Given the description of an element on the screen output the (x, y) to click on. 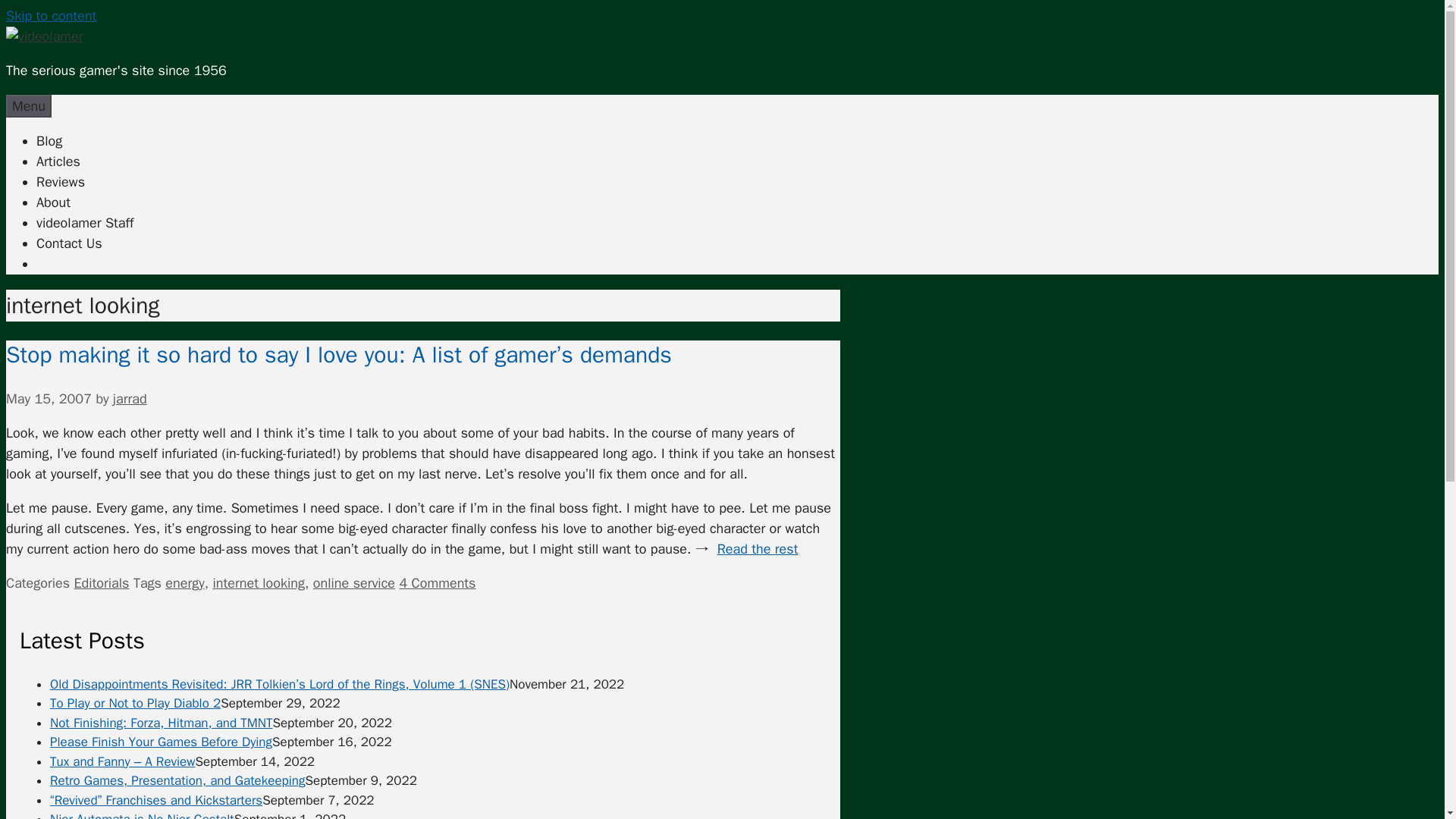
Blog (49, 140)
Skip to content (50, 15)
Read the rest (757, 548)
Reviews (60, 181)
About (52, 202)
Articles (58, 161)
internet looking (258, 582)
Not Finishing: Forza, Hitman, and TMNT (160, 722)
jarrad (130, 398)
energy (184, 582)
Editorials (101, 582)
Retro Games, Presentation, and Gatekeeping (176, 780)
Please Finish Your Games Before Dying (160, 741)
View all posts by jarrad (130, 398)
Menu (27, 106)
